Given the description of an element on the screen output the (x, y) to click on. 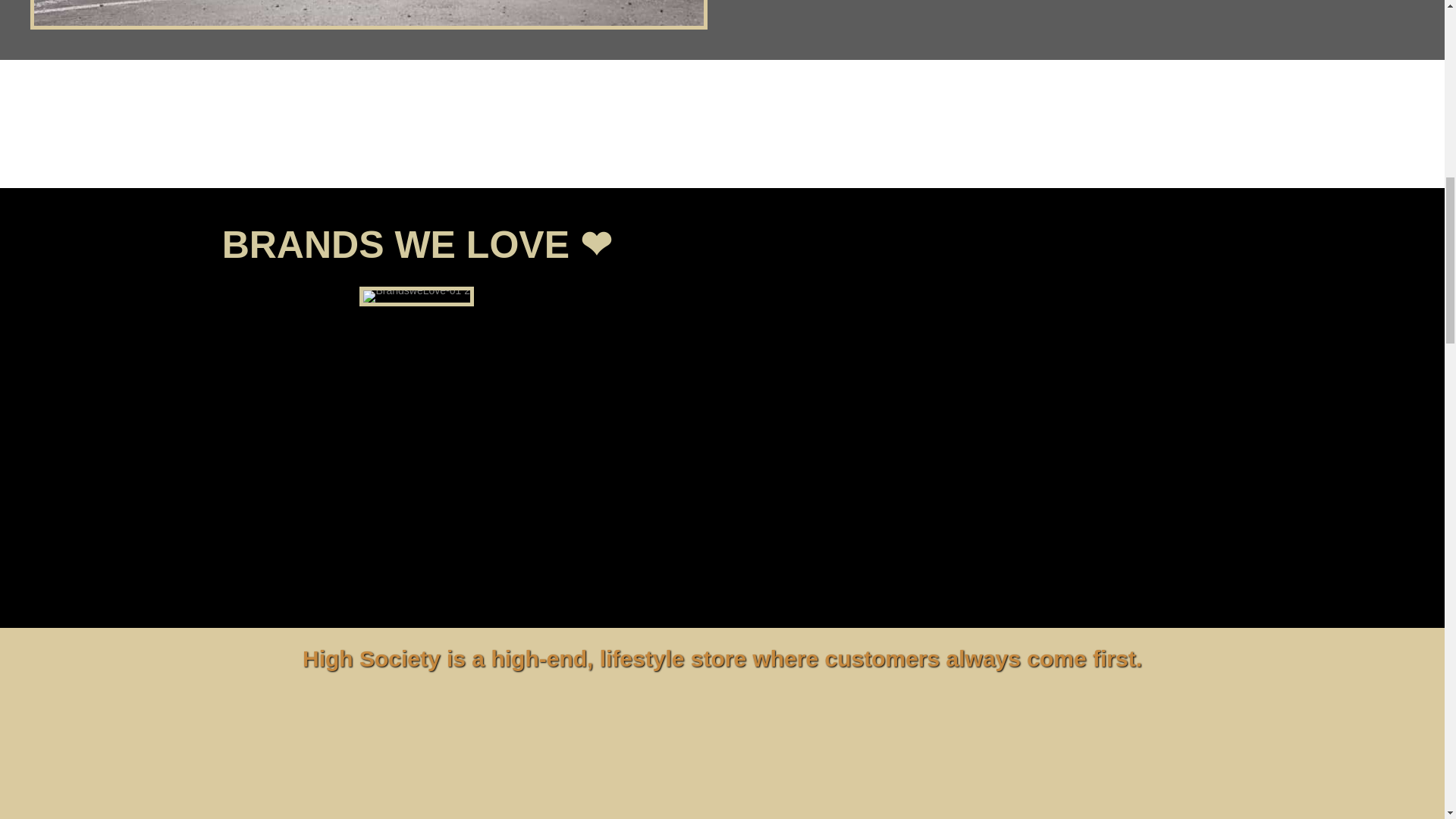
BrandsweLove-01 2 (416, 296)
Replace Anacortes on Main Homepage (368, 15)
